Given the description of an element on the screen output the (x, y) to click on. 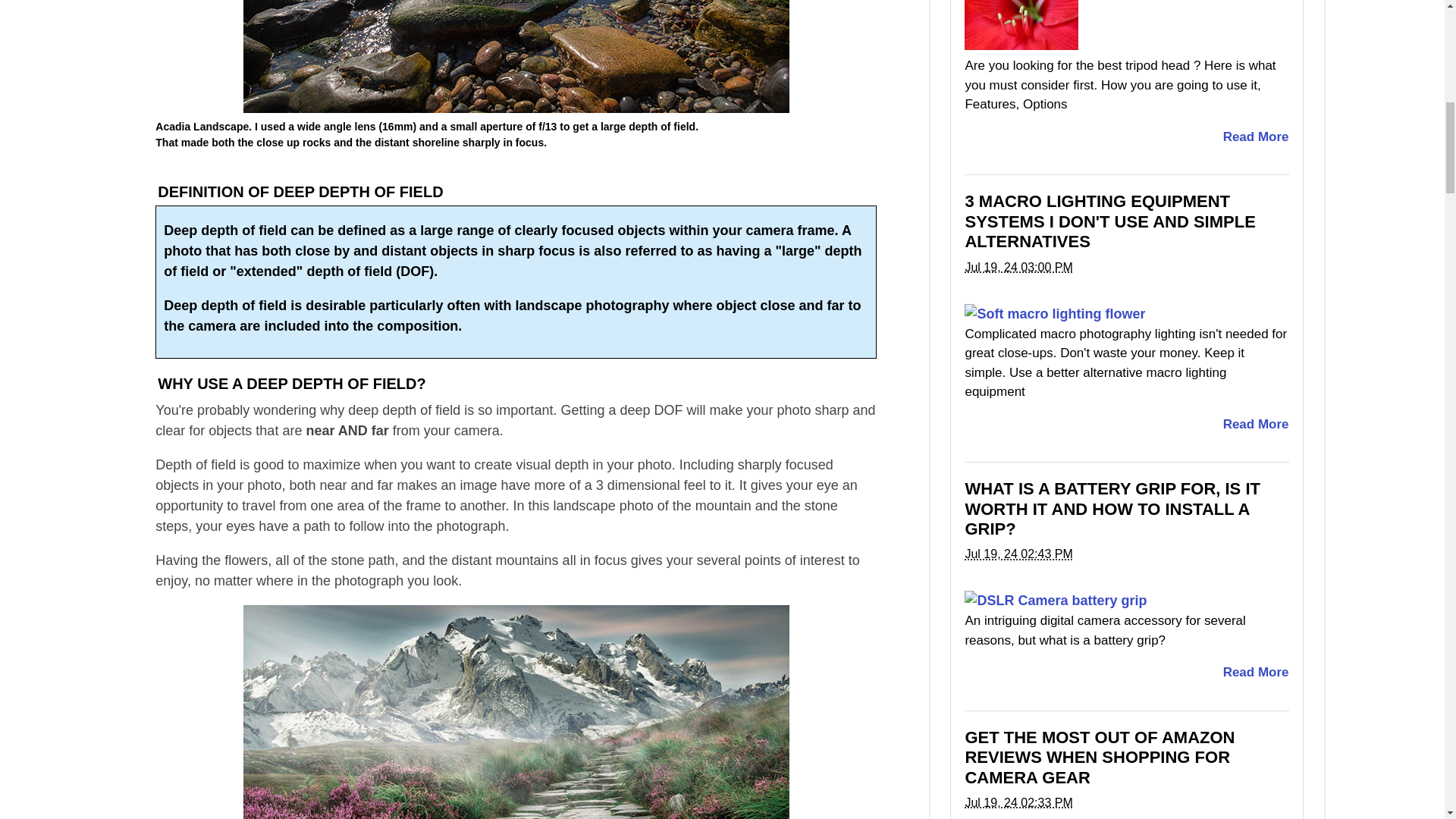
2024-07-19T14:43:04-0400 (1017, 553)
2024-07-19T15:00:41-0400 (1017, 267)
2024-07-19T14:33:49-0400 (1017, 802)
